Given the description of an element on the screen output the (x, y) to click on. 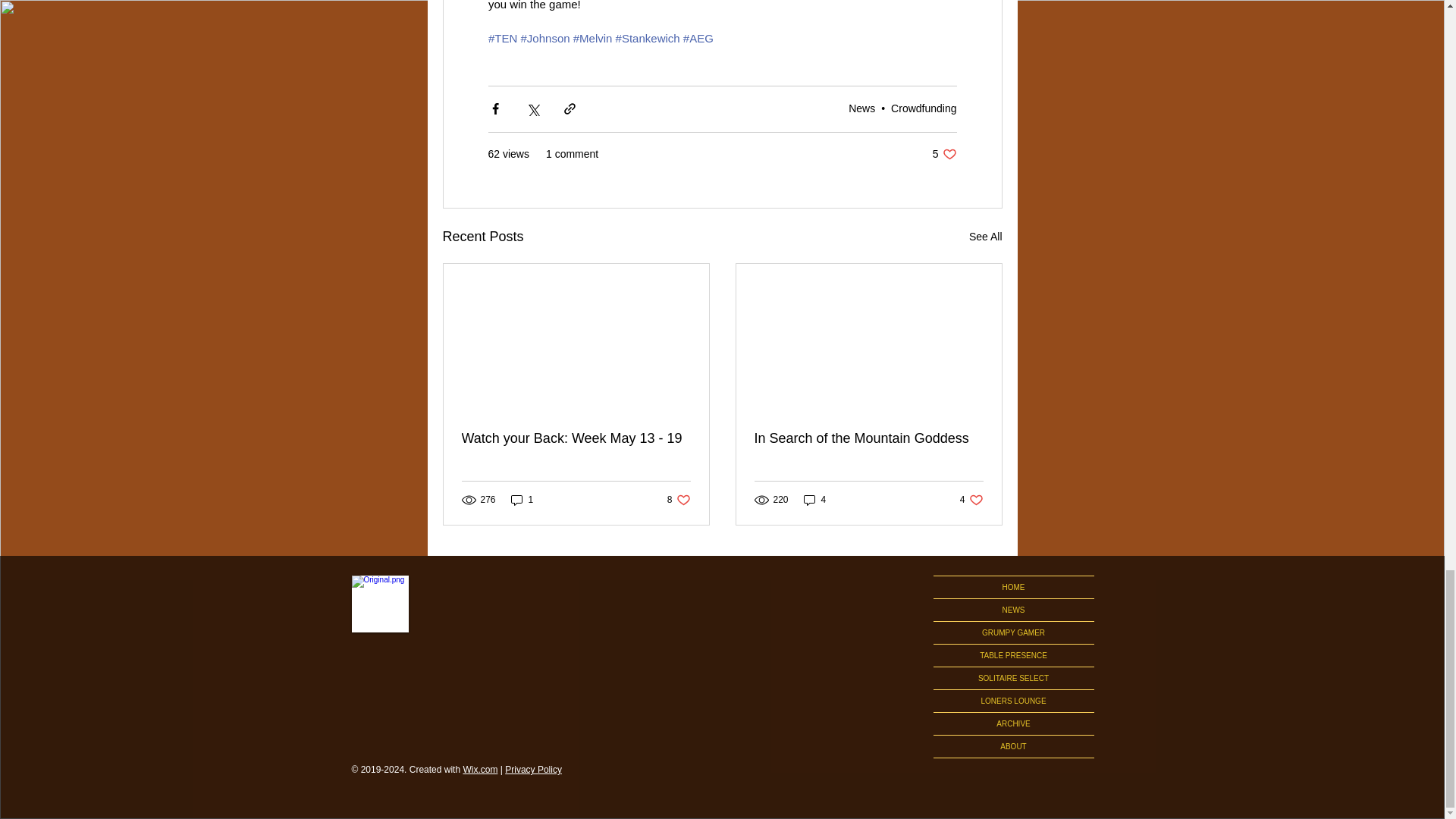
News (861, 108)
Solitaire Times - solo board game news (944, 154)
Crowdfunding (380, 603)
